Given the description of an element on the screen output the (x, y) to click on. 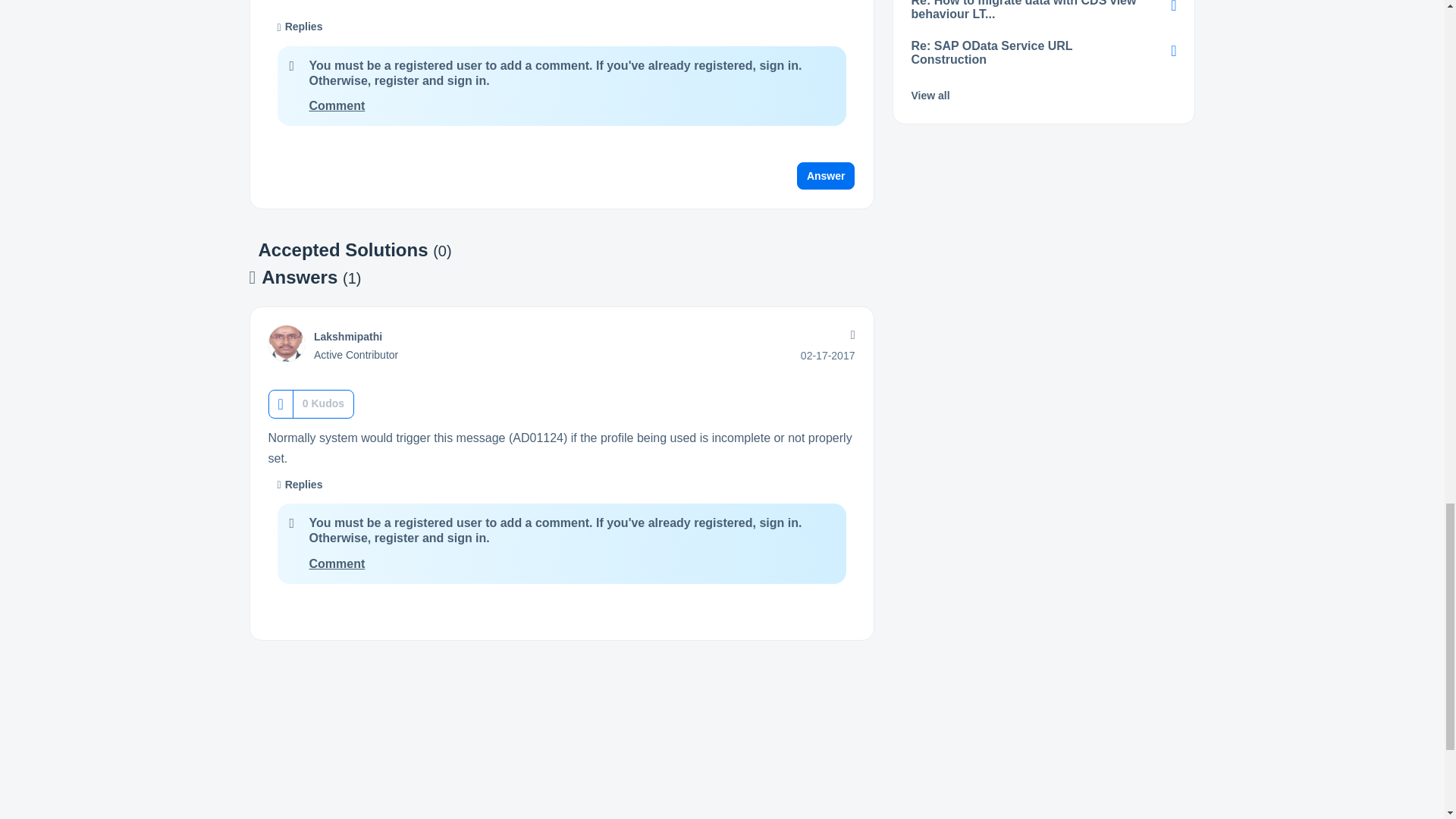
Answer (826, 175)
Lakshmipathi (347, 336)
Comment (336, 105)
